Given the description of an element on the screen output the (x, y) to click on. 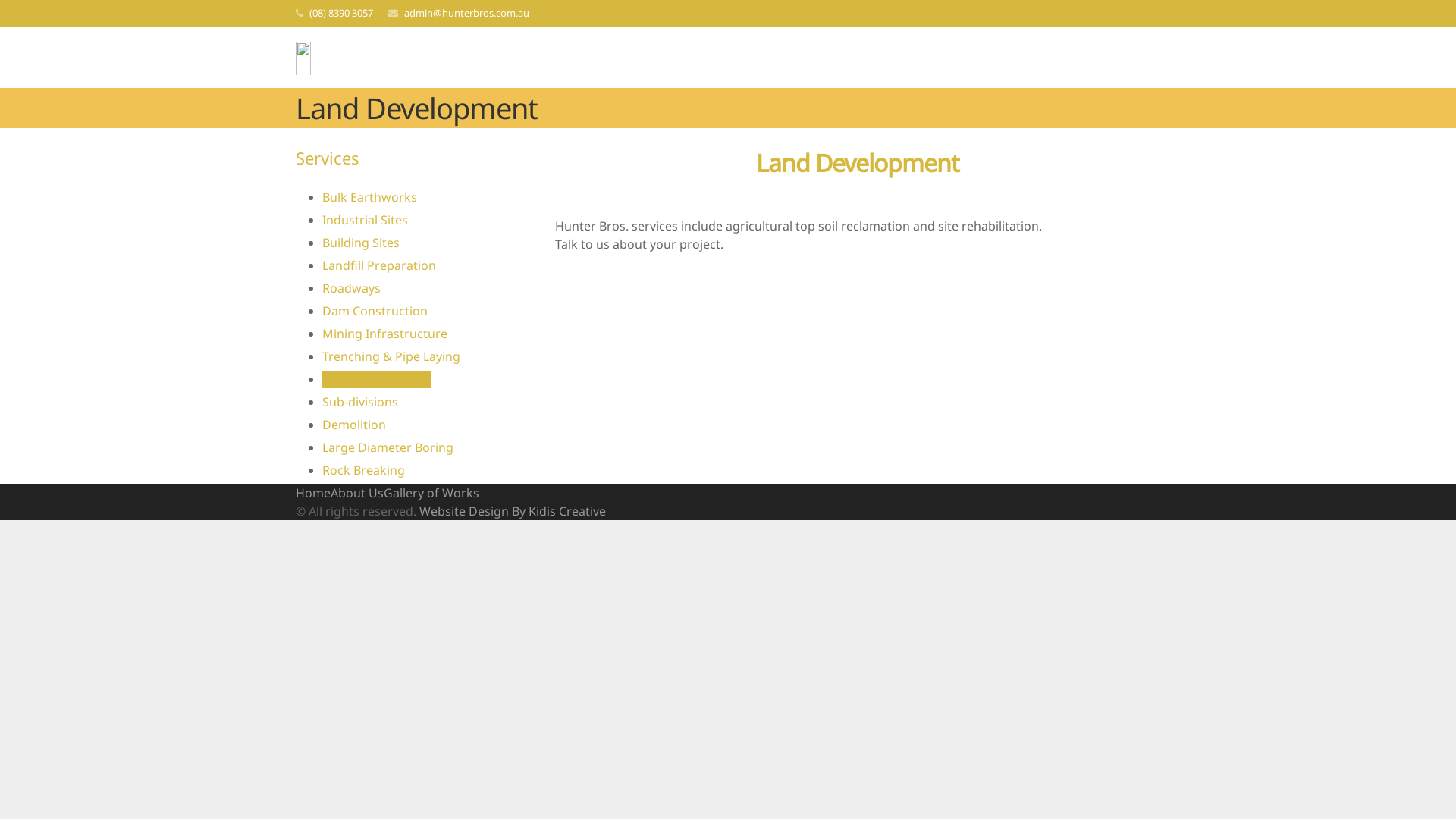
Landfill Preparation Element type: text (379, 265)
Mining Infrastructure Element type: text (384, 333)
Land Development Element type: text (376, 378)
Gallery of Works Element type: text (431, 492)
Sub-divisions Element type: text (360, 401)
Trenching & Pipe Laying Element type: text (391, 356)
About Us Element type: text (356, 492)
Roadways Element type: text (351, 287)
Large Diameter Boring Element type: text (387, 447)
Rock Breaking Element type: text (363, 469)
Home Element type: text (312, 492)
Industrial Sites Element type: text (364, 219)
Demolition Element type: text (353, 424)
admin@hunterbros.com.au Element type: text (466, 12)
Building Sites Element type: text (360, 242)
Bulk Earthworks Element type: text (369, 196)
Website Design By Kidis Creative Element type: text (512, 510)
Dam Construction Element type: text (374, 310)
